Given the description of an element on the screen output the (x, y) to click on. 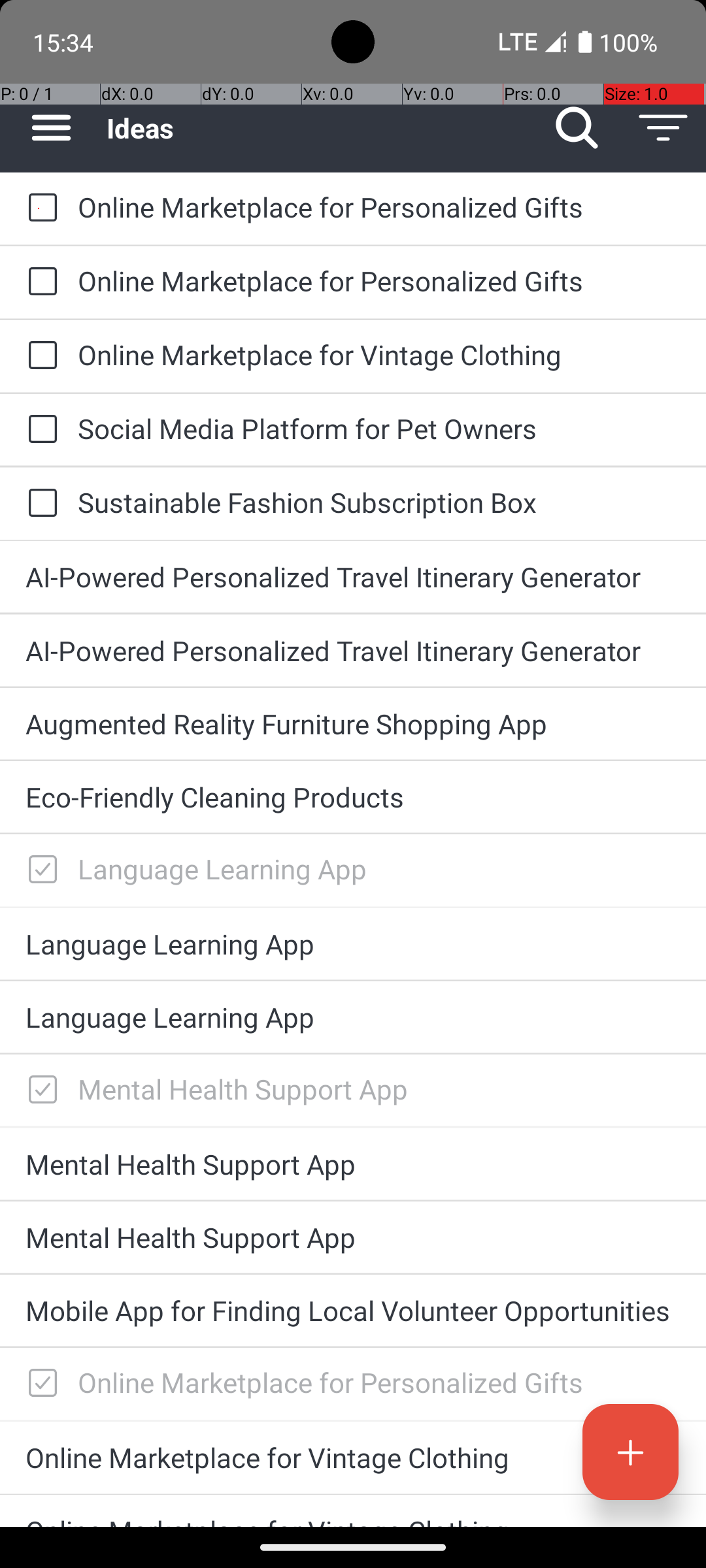
to-do: Online Marketplace for Personalized Gifts Element type: android.widget.CheckBox (38, 208)
Online Marketplace for Personalized Gifts Element type: android.widget.TextView (378, 206)
to-do: Online Marketplace for Vintage Clothing Element type: android.widget.CheckBox (38, 356)
Online Marketplace for Vintage Clothing Element type: android.widget.TextView (378, 354)
to-do: Social Media Platform for Pet Owners Element type: android.widget.CheckBox (38, 429)
Social Media Platform for Pet Owners Element type: android.widget.TextView (378, 427)
to-do: Sustainable Fashion Subscription Box Element type: android.widget.CheckBox (38, 503)
Sustainable Fashion Subscription Box Element type: android.widget.TextView (378, 501)
AI-Powered Personalized Travel Itinerary Generator Element type: android.widget.TextView (352, 576)
Augmented Reality Furniture Shopping App Element type: android.widget.TextView (352, 723)
to-do: Language Learning App Element type: android.widget.CheckBox (38, 870)
Language Learning App Element type: android.widget.TextView (378, 868)
to-do: Mental Health Support App Element type: android.widget.CheckBox (38, 1090)
Mental Health Support App Element type: android.widget.TextView (378, 1088)
Mobile App for Finding Local Volunteer Opportunities Element type: android.widget.TextView (352, 1309)
